Given the description of an element on the screen output the (x, y) to click on. 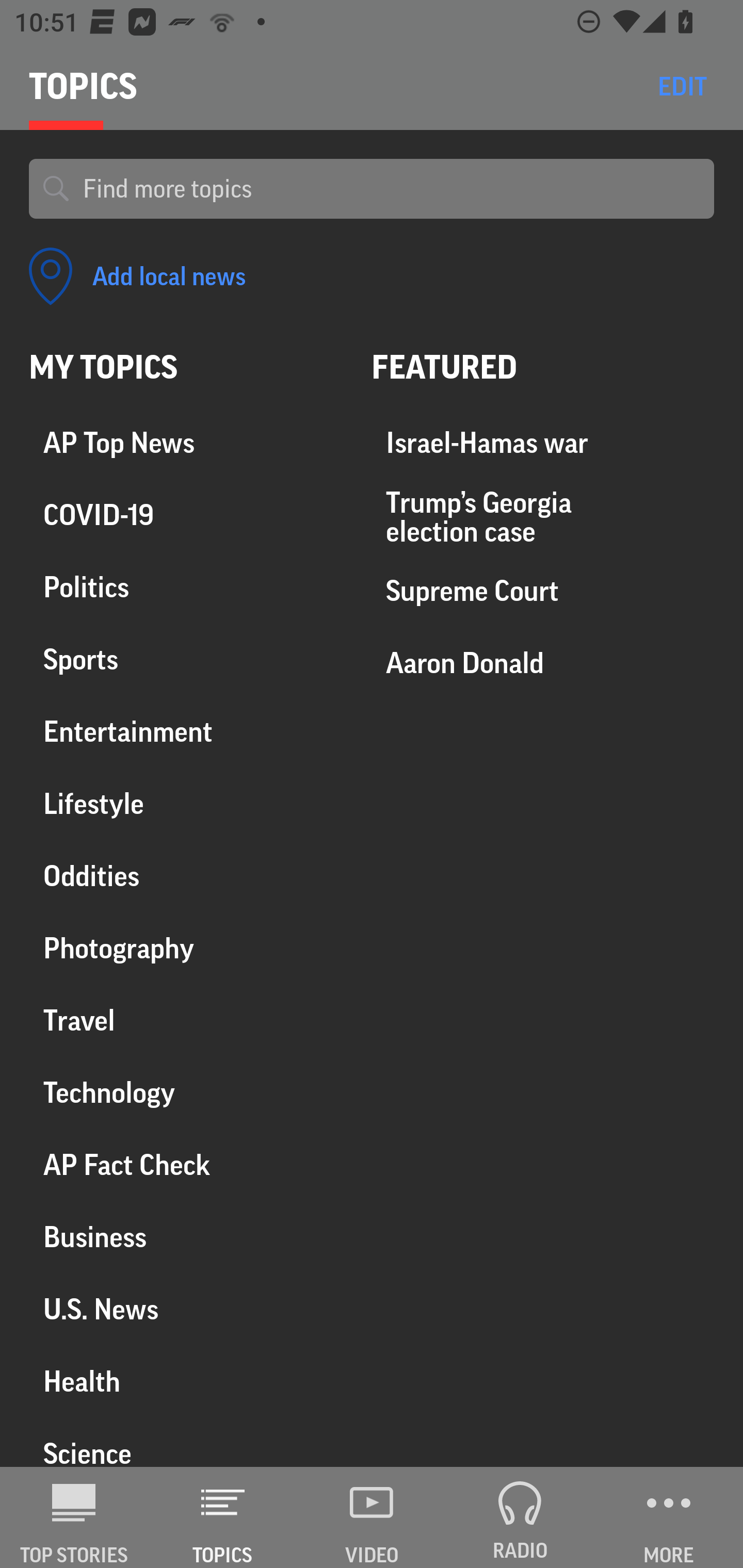
EDIT (682, 86)
Find more topics (391, 188)
Add local news (137, 276)
AP Top News (185, 443)
Israel-Hamas war (542, 443)
COVID-19 (185, 515)
Trump’s Georgia election case (542, 517)
Politics (185, 587)
Supreme Court (542, 591)
Sports (185, 660)
Aaron Donald (542, 663)
Entertainment (185, 732)
Lifestyle (185, 804)
Oddities (185, 876)
Photography (185, 948)
Travel (185, 1020)
Technology (185, 1092)
AP Fact Check (185, 1164)
Business (185, 1237)
U.S. News (185, 1309)
Health (185, 1381)
Science (185, 1442)
AP News TOP STORIES (74, 1517)
TOPICS (222, 1517)
VIDEO (371, 1517)
RADIO (519, 1517)
MORE (668, 1517)
